Given the description of an element on the screen output the (x, y) to click on. 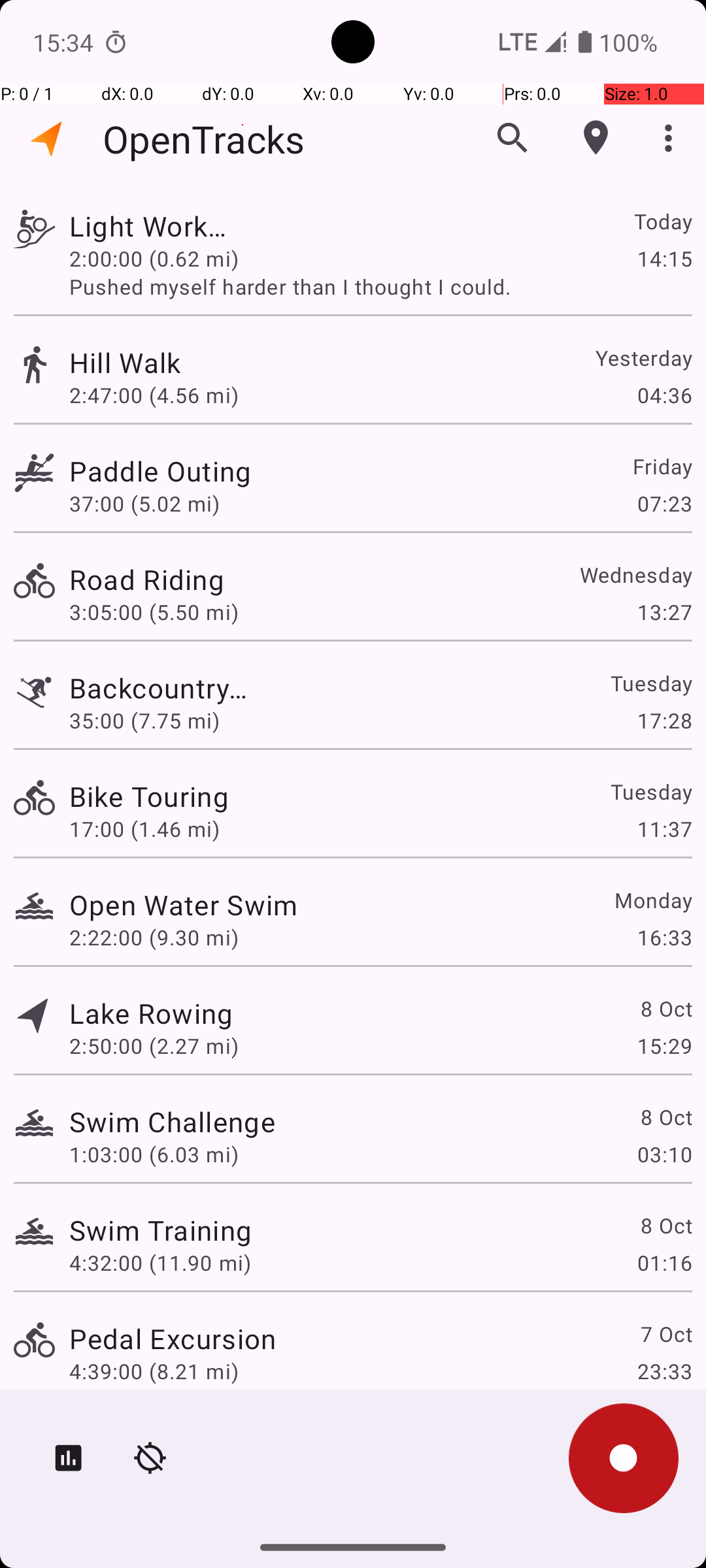
Light Workout Element type: android.widget.TextView (159, 225)
2:00:00 (0.62 mi) Element type: android.widget.TextView (153, 258)
14:15 Element type: android.widget.TextView (664, 258)
Pushed myself harder than I thought I could. Element type: android.widget.TextView (380, 286)
Hill Walk Element type: android.widget.TextView (124, 361)
2:47:00 (4.56 mi) Element type: android.widget.TextView (153, 394)
04:36 Element type: android.widget.TextView (664, 394)
Paddle Outing Element type: android.widget.TextView (159, 470)
37:00 (5.02 mi) Element type: android.widget.TextView (144, 503)
07:23 Element type: android.widget.TextView (664, 503)
Road Riding Element type: android.widget.TextView (146, 578)
3:05:00 (5.50 mi) Element type: android.widget.TextView (153, 611)
13:27 Element type: android.widget.TextView (664, 611)
Backcountry Skiing Element type: android.widget.TextView (192, 687)
35:00 (7.75 mi) Element type: android.widget.TextView (144, 720)
17:28 Element type: android.widget.TextView (664, 720)
